Given the description of an element on the screen output the (x, y) to click on. 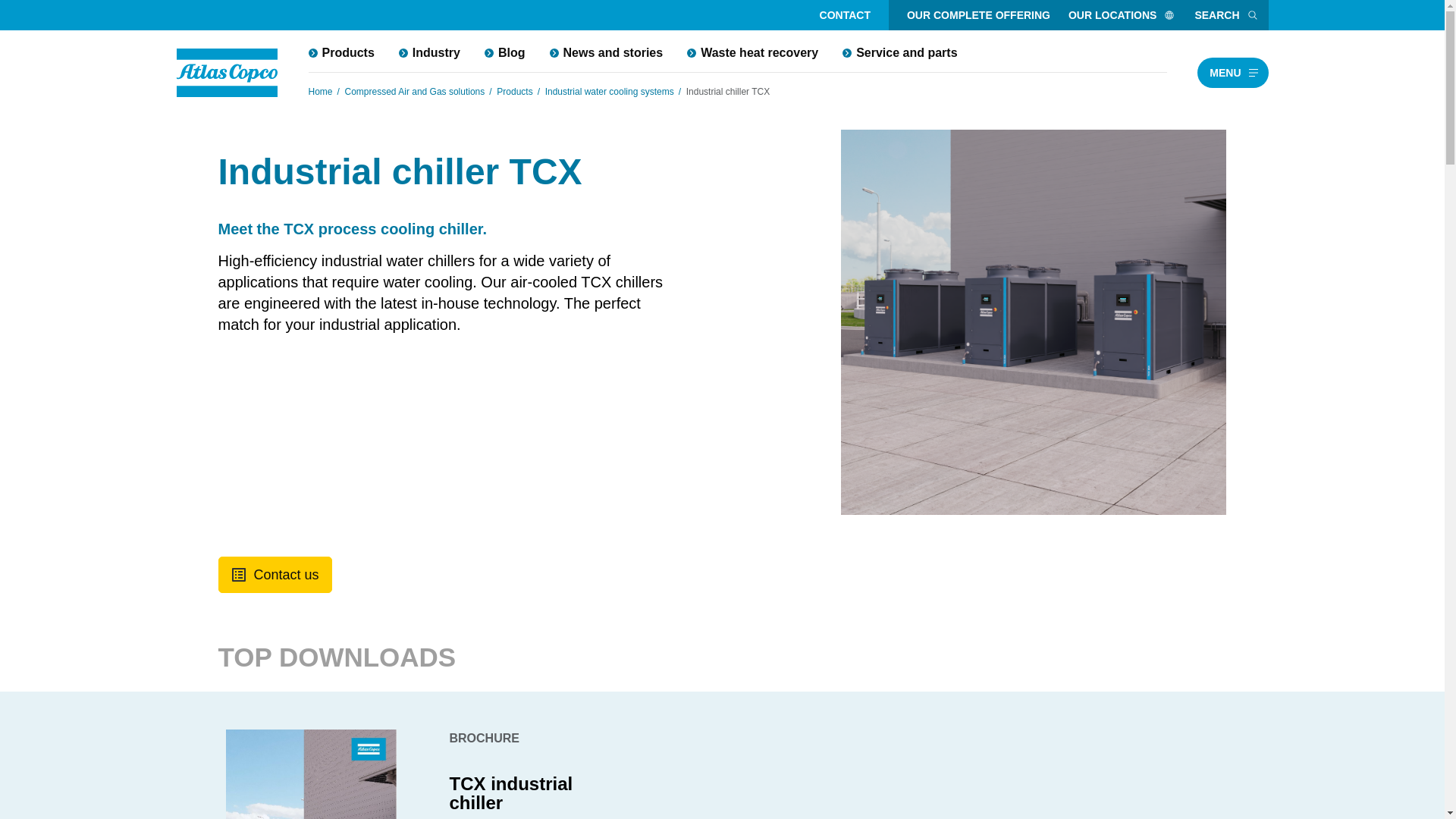
SEARCH (1226, 15)
Home (319, 91)
CONTACT (844, 15)
OUR LOCATIONS (1122, 15)
Industry (429, 52)
OUR COMPLETE OFFERING (978, 15)
Blog (504, 52)
AtlasCopco Logo (227, 72)
Service and parts (899, 52)
MENU (1232, 72)
Products (514, 91)
Compressed Air and Gas solutions (414, 91)
Products (340, 52)
Waste heat recovery (752, 52)
News and stories (606, 52)
